Given the description of an element on the screen output the (x, y) to click on. 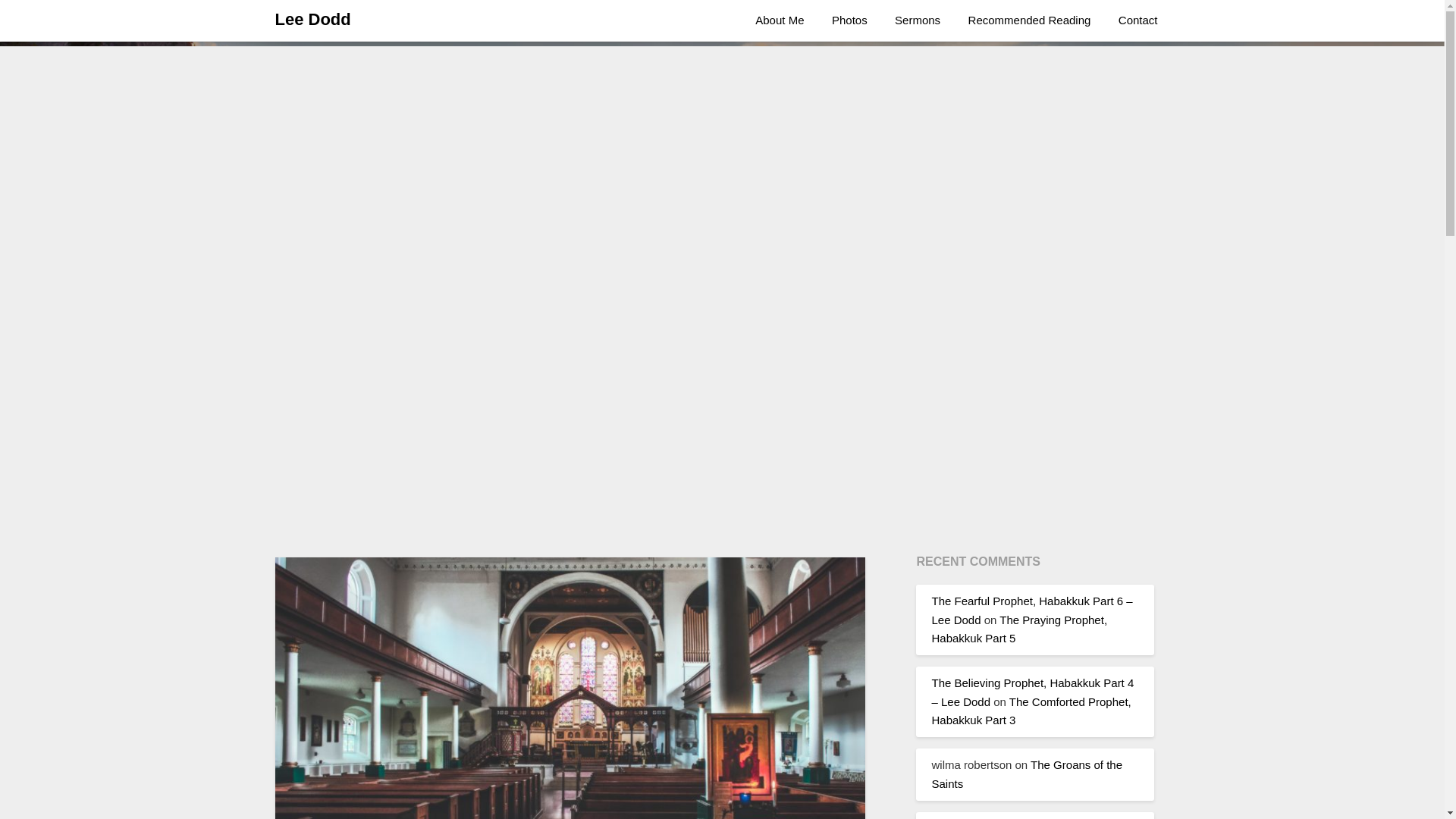
Recommended Reading (1029, 20)
Lee Dodd (312, 19)
The Comforted Prophet, Habakkuk Part 3 (1031, 710)
The Groans of the Saints (1026, 773)
About Me (778, 20)
The Praying Prophet, Habakkuk Part 5 (1018, 627)
Contact (1138, 20)
Photos (849, 20)
Sermons (917, 20)
